Given the description of an element on the screen output the (x, y) to click on. 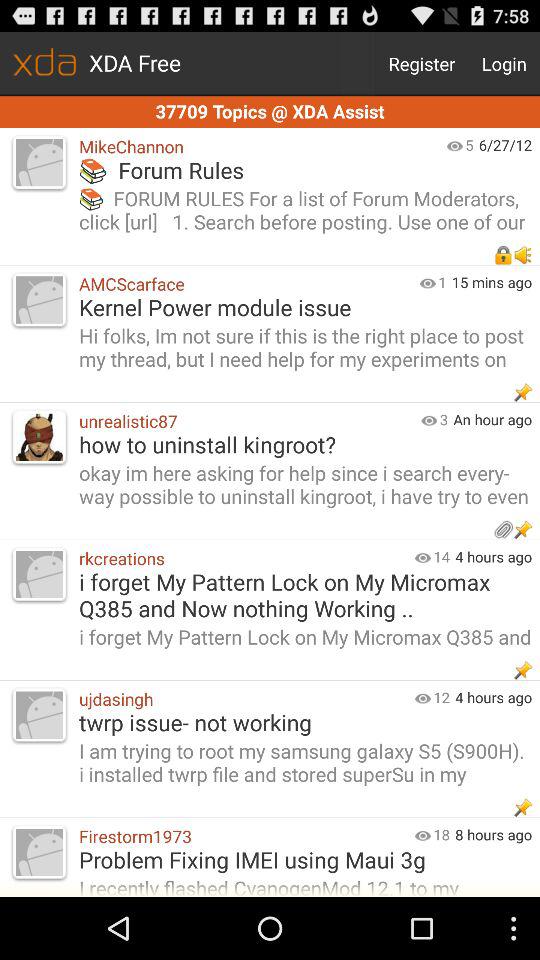
turn off the okay im here item (304, 487)
